Given the description of an element on the screen output the (x, y) to click on. 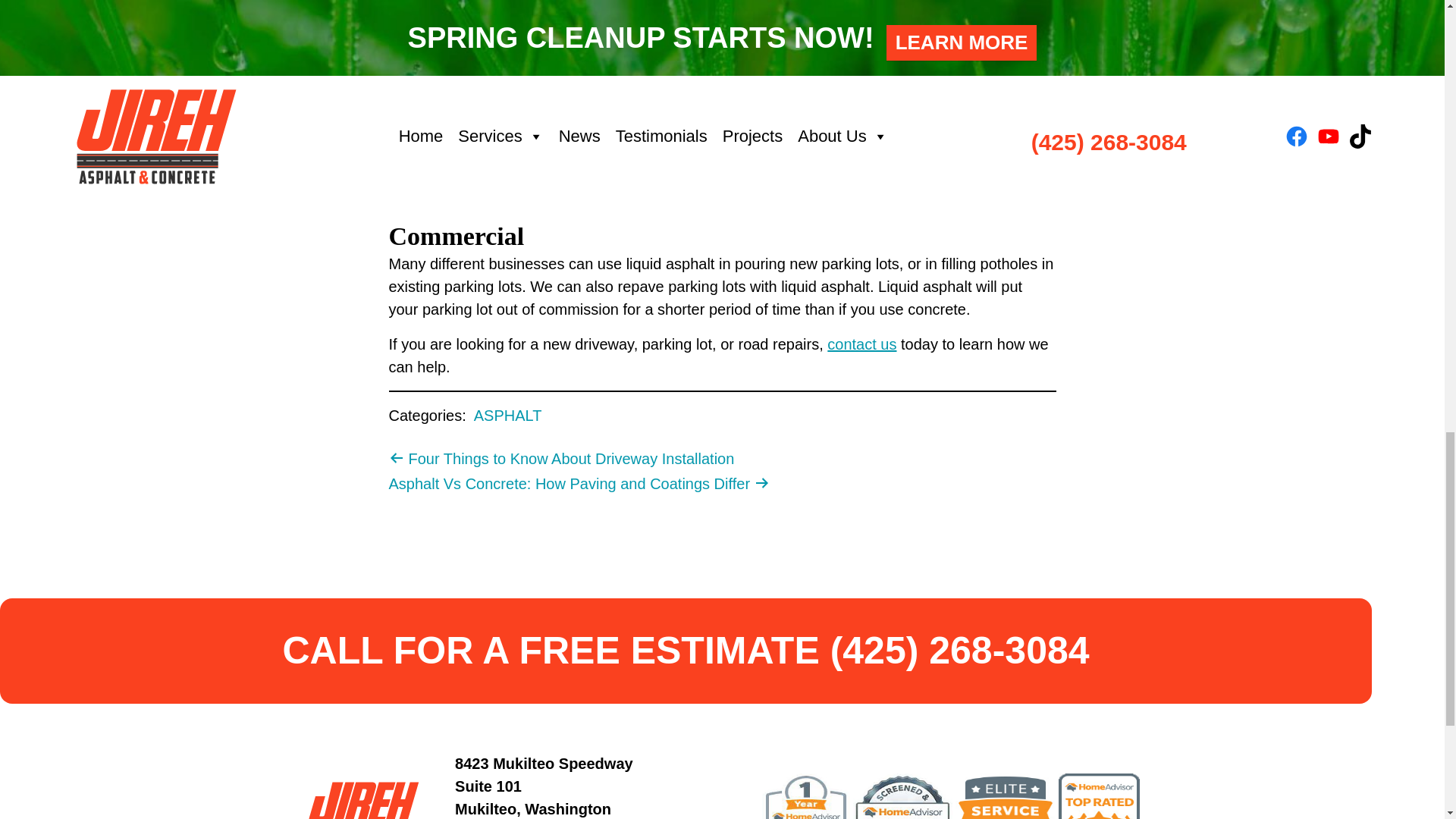
Four Things to Know About Driveway Installation (560, 458)
ASPHALT (507, 415)
Asphalt Vs Concrete: How Paving and Coatings Differ (579, 483)
contact us (861, 343)
